Given the description of an element on the screen output the (x, y) to click on. 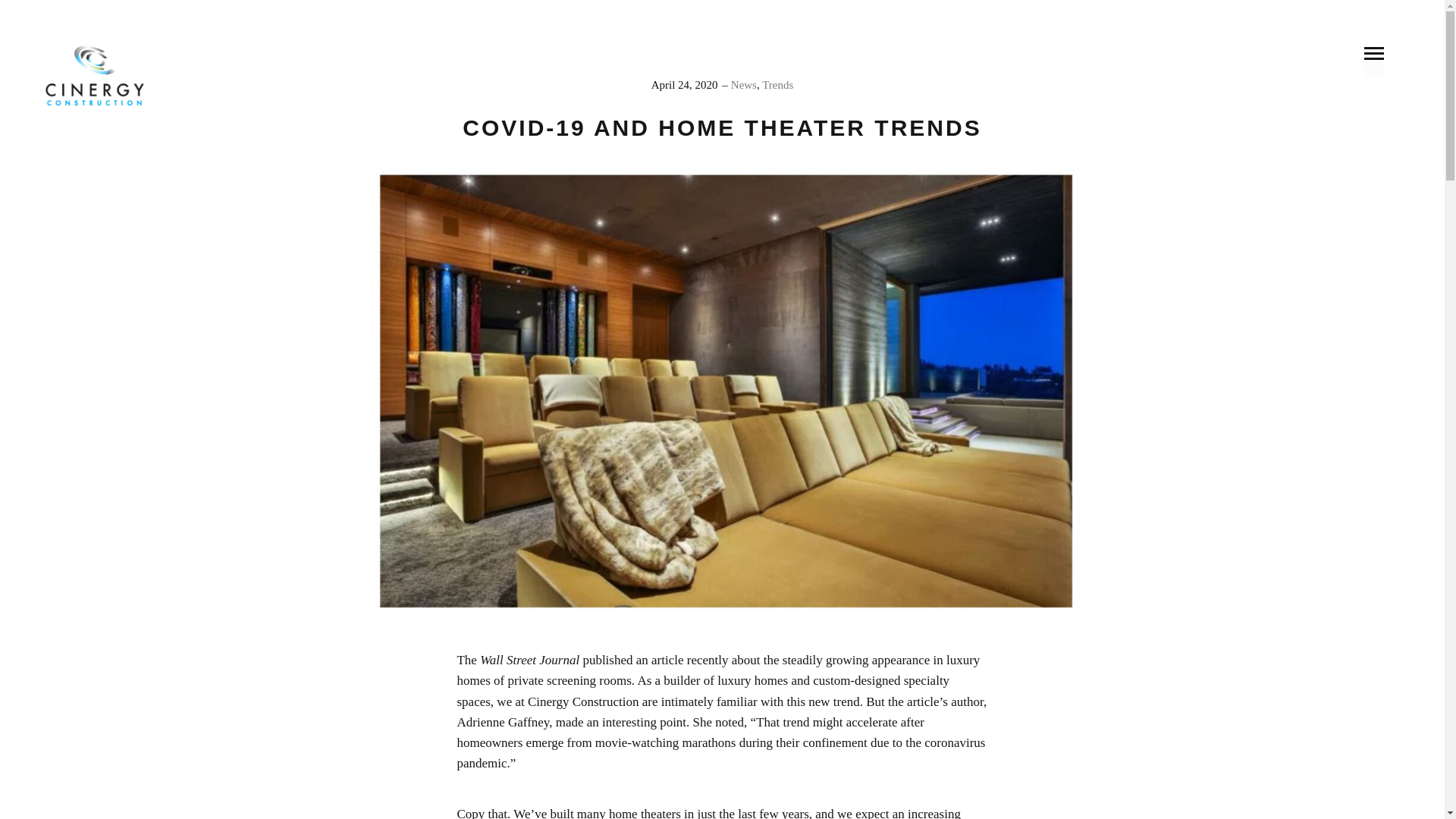
Cinergy Construction (94, 75)
News (743, 84)
Trends (777, 84)
